Given the description of an element on the screen output the (x, y) to click on. 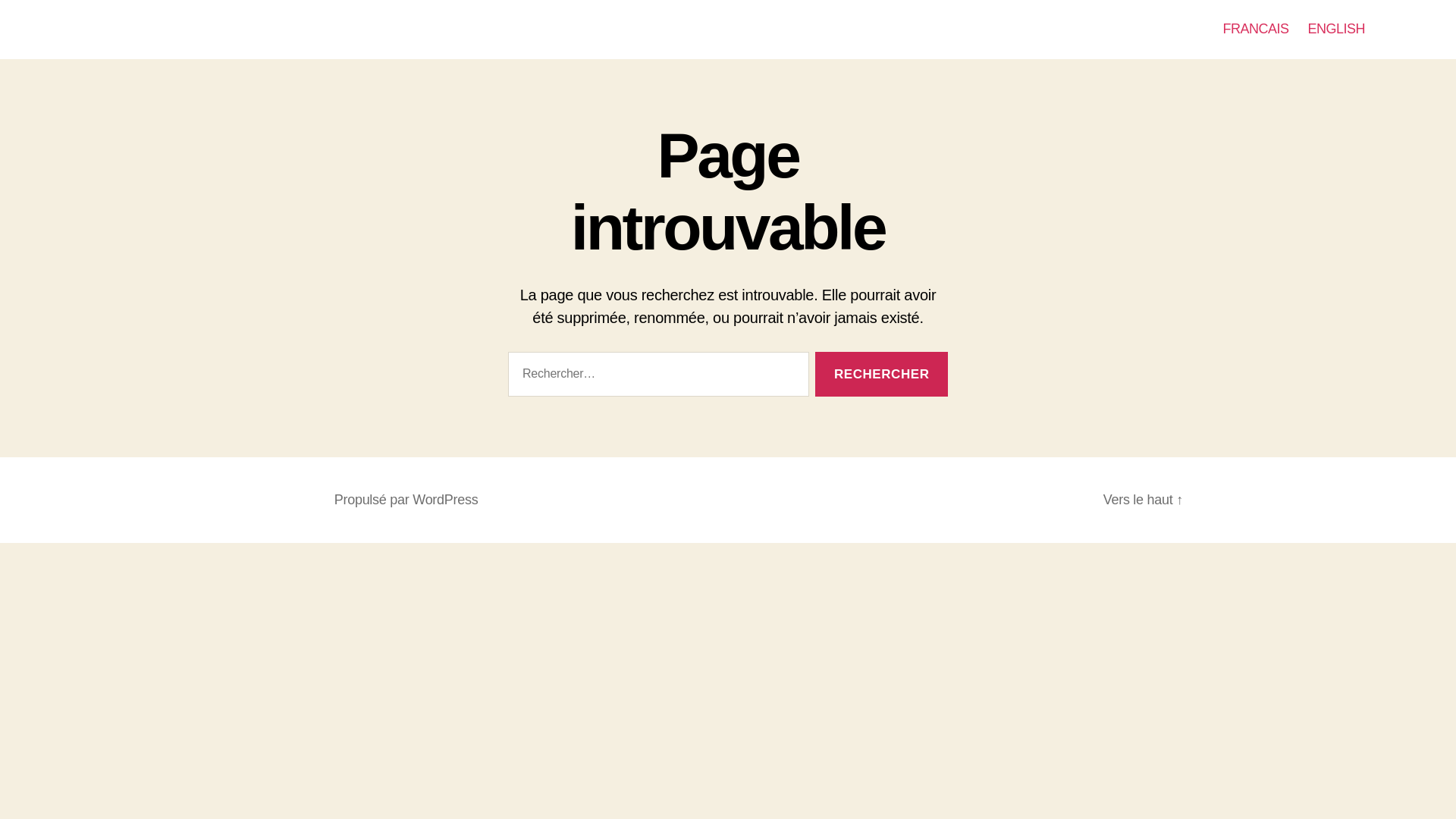
FRANCAIS (1255, 29)
Rechercher (881, 374)
Rechercher (881, 374)
Rechercher (881, 374)
ENGLISH (1336, 29)
